Given the description of an element on the screen output the (x, y) to click on. 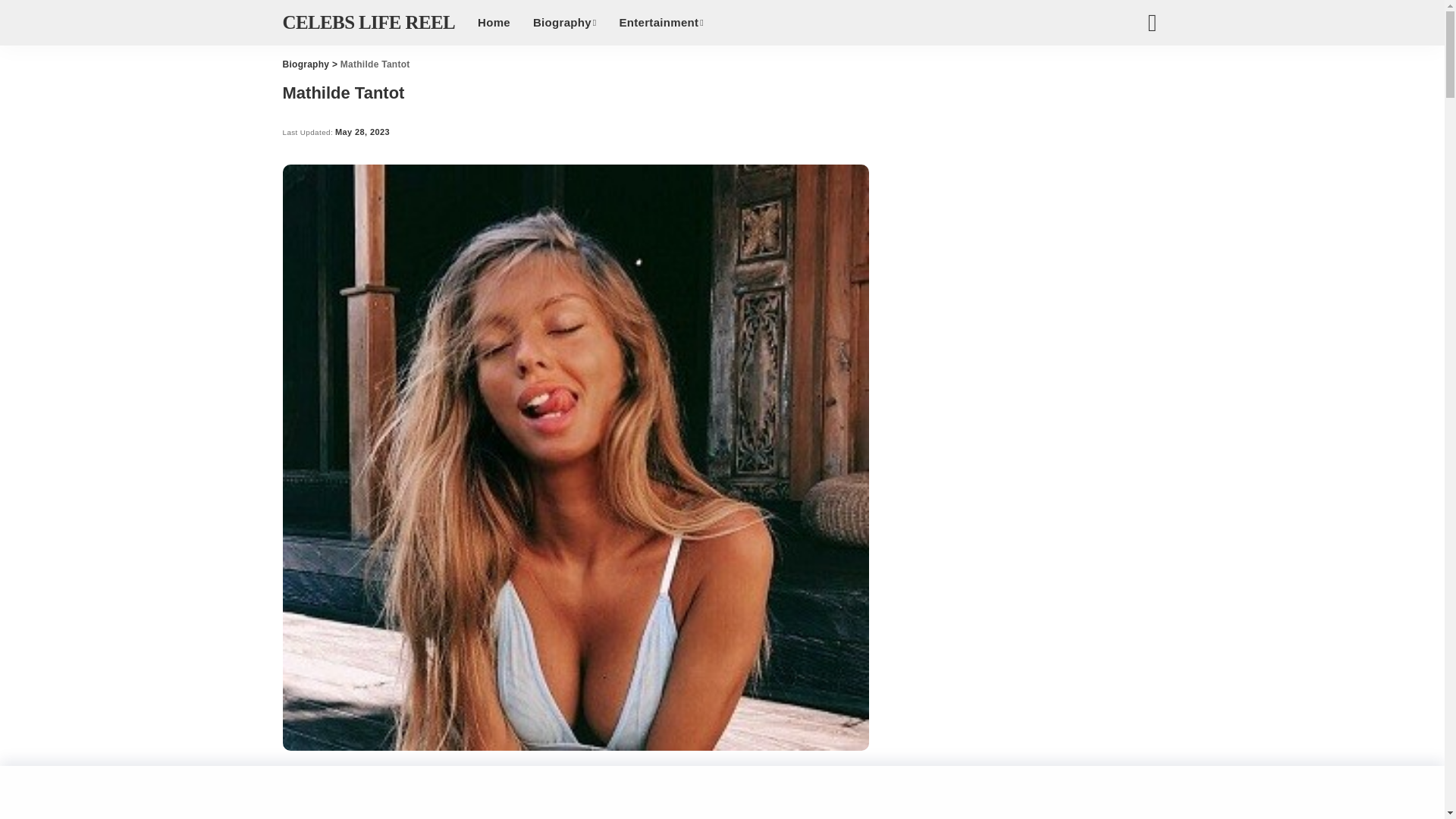
Go to the Biography Category archives. (305, 63)
CELEBS LIFE REEL (368, 22)
Home (493, 22)
Biography (564, 22)
Entertainment (661, 22)
CELEBS LIFE REEL (368, 22)
